Given the description of an element on the screen output the (x, y) to click on. 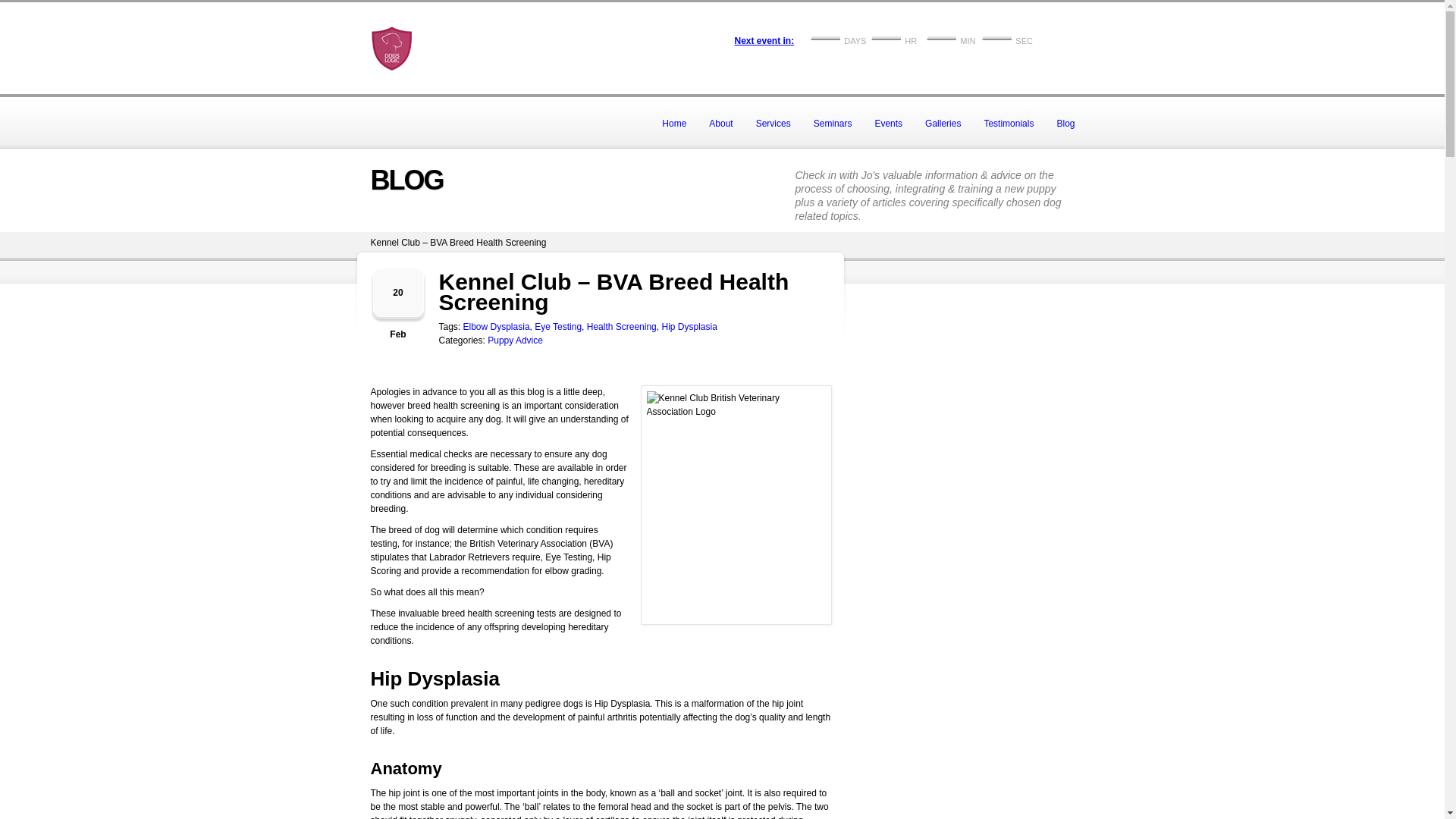
Elbow Dysplasia (496, 326)
Next event in: (763, 40)
Services (773, 122)
Galleries (943, 122)
Seminars (832, 122)
About Dogs Logic (720, 122)
Testimonials (1008, 122)
Events (888, 122)
Puppy Advice (515, 339)
Hip Dysplasia (688, 326)
About (720, 122)
Health Screening (621, 326)
Eye Testing (557, 326)
Home (673, 122)
